Given the description of an element on the screen output the (x, y) to click on. 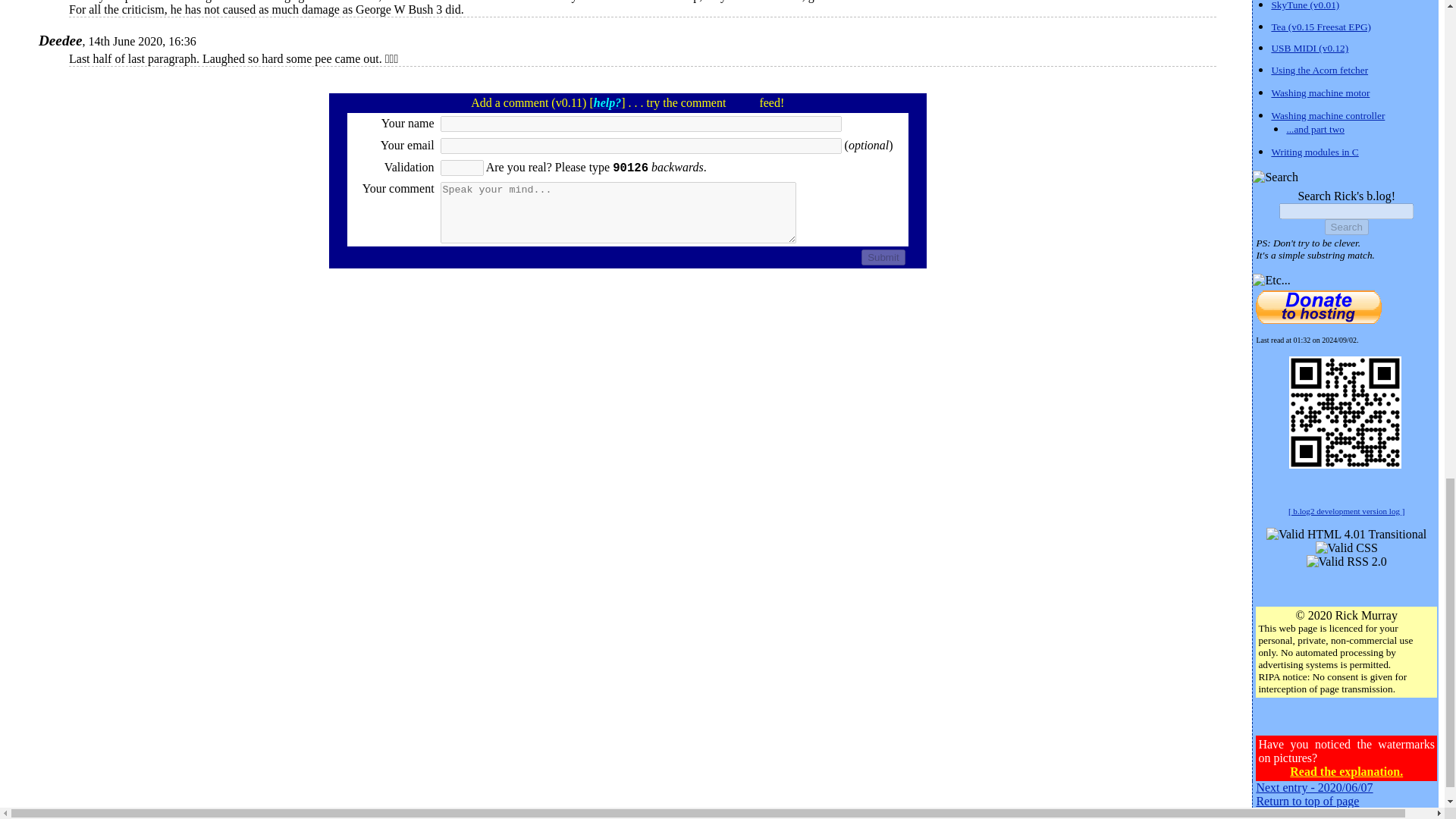
Submit (882, 257)
Search (1346, 227)
help? (607, 102)
Submit (882, 257)
